Given the description of an element on the screen output the (x, y) to click on. 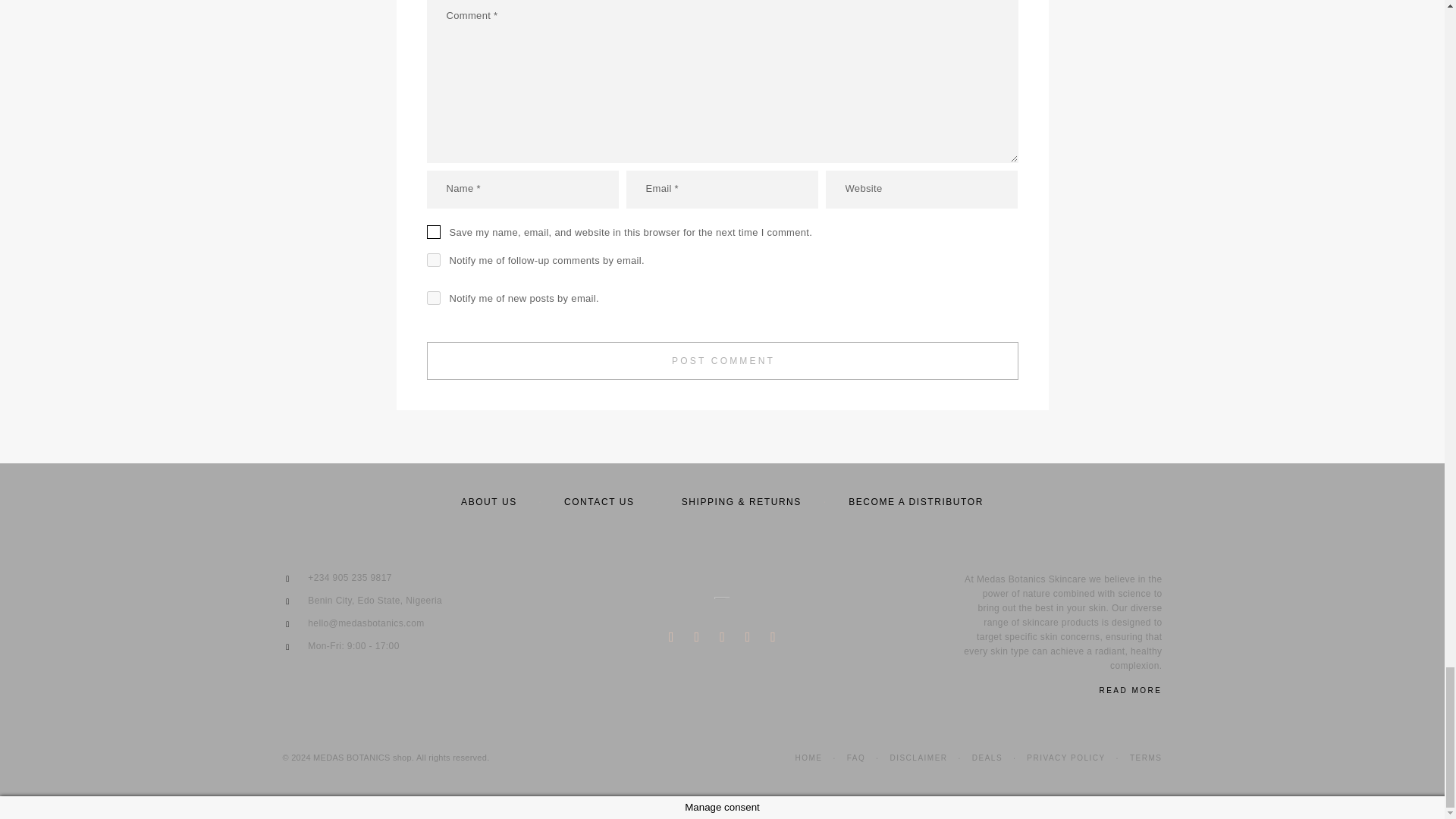
subscribe (432, 297)
subscribe (432, 259)
yes (432, 232)
